Given the description of an element on the screen output the (x, y) to click on. 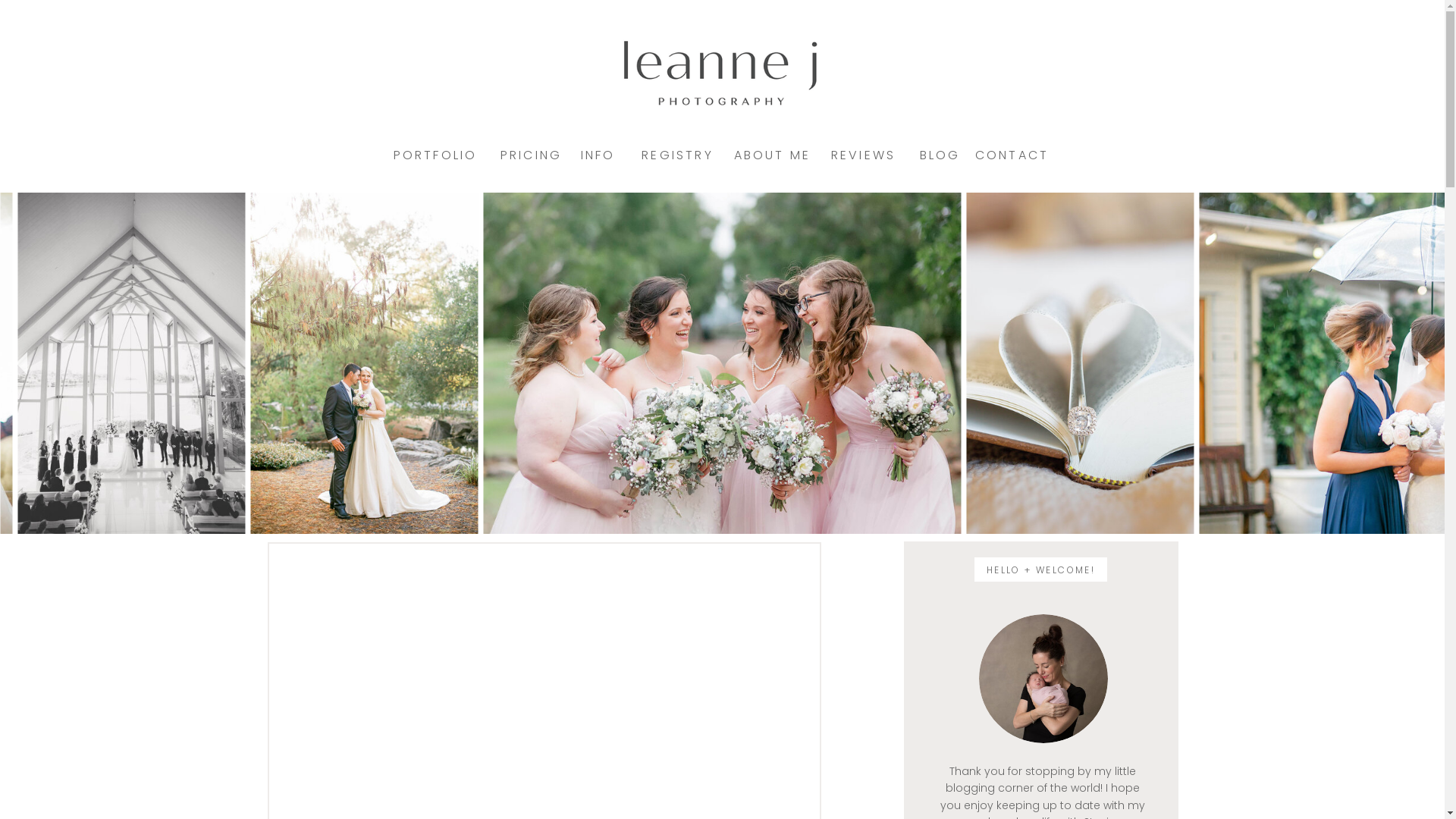
ABOUT ME Element type: text (771, 154)
BLOG Element type: text (939, 154)
REVIEWS Element type: text (862, 154)
INFO Element type: text (597, 154)
PRICING Element type: text (530, 154)
PORTFOLIO Element type: text (431, 154)
REGISTRY Element type: text (677, 154)
CONTACT Element type: text (1011, 154)
